Given the description of an element on the screen output the (x, y) to click on. 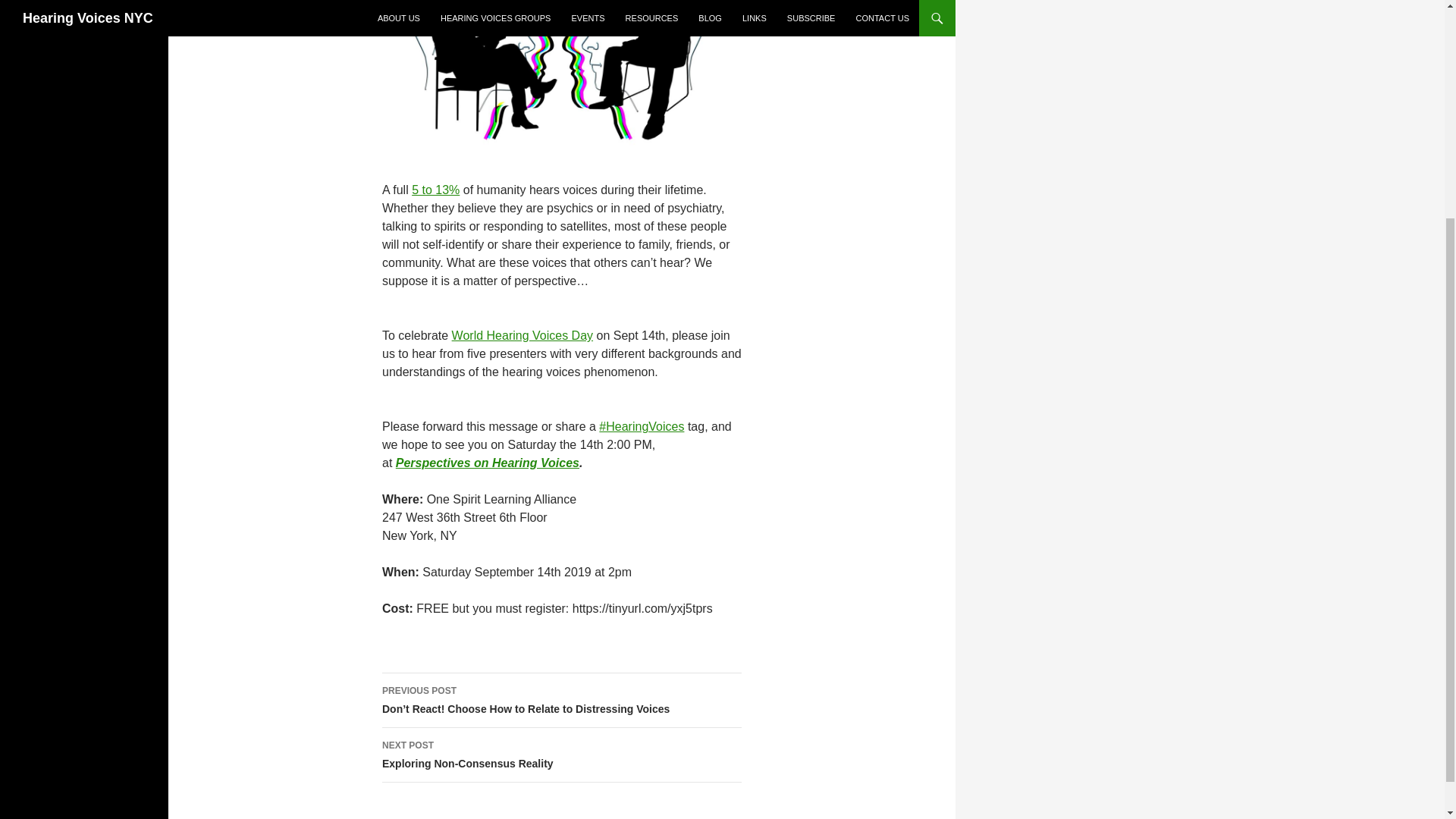
Perspectives on Hearing Voices (487, 462)
World Hearing Voices Day (561, 755)
